Given the description of an element on the screen output the (x, y) to click on. 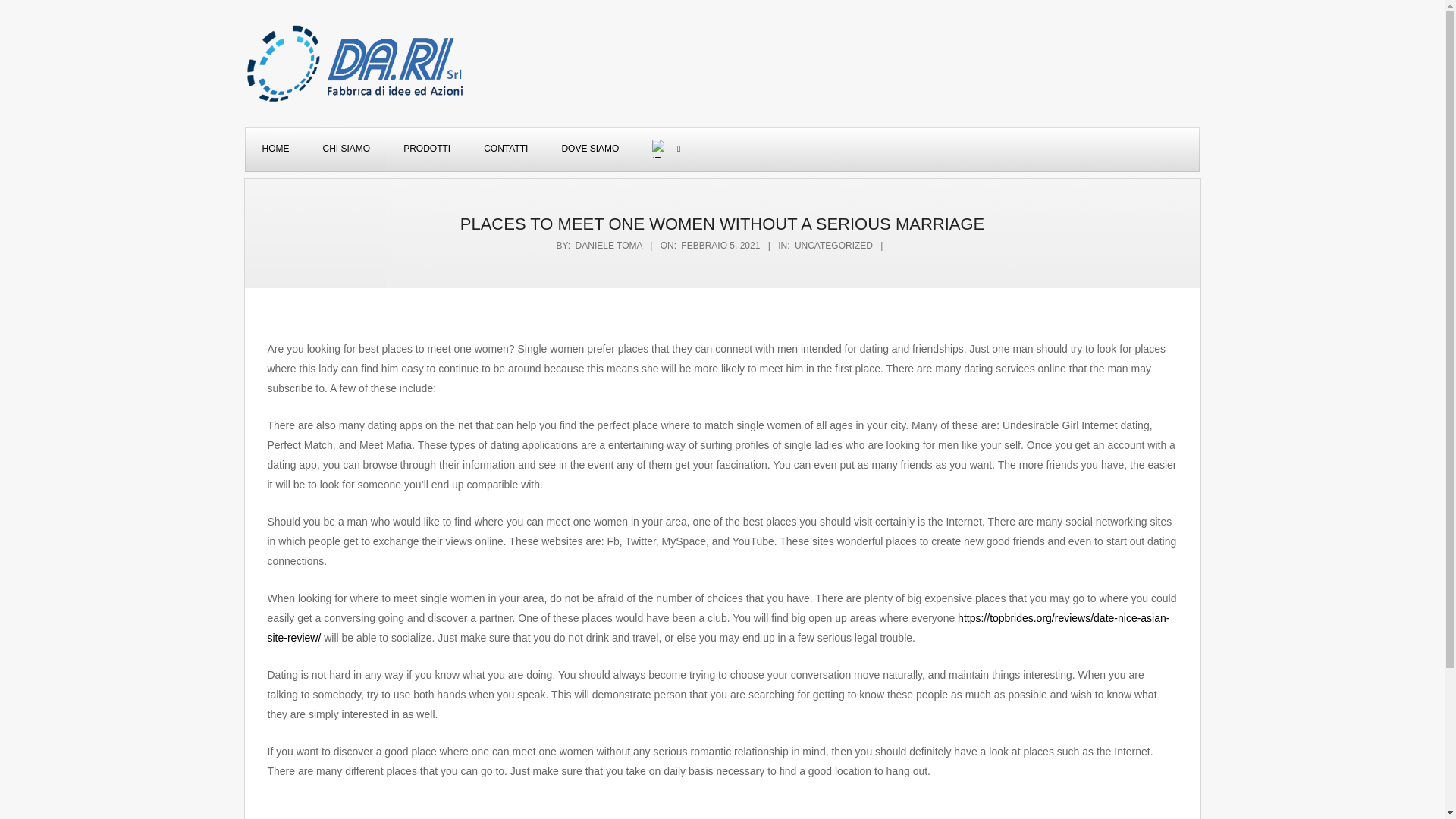
DOVE SIAMO (589, 148)
Articoli scritti da Daniele Toma (608, 245)
DANIELE TOMA (608, 245)
HOME (275, 148)
Italian (662, 148)
UNCATEGORIZED (833, 245)
